Given the description of an element on the screen output the (x, y) to click on. 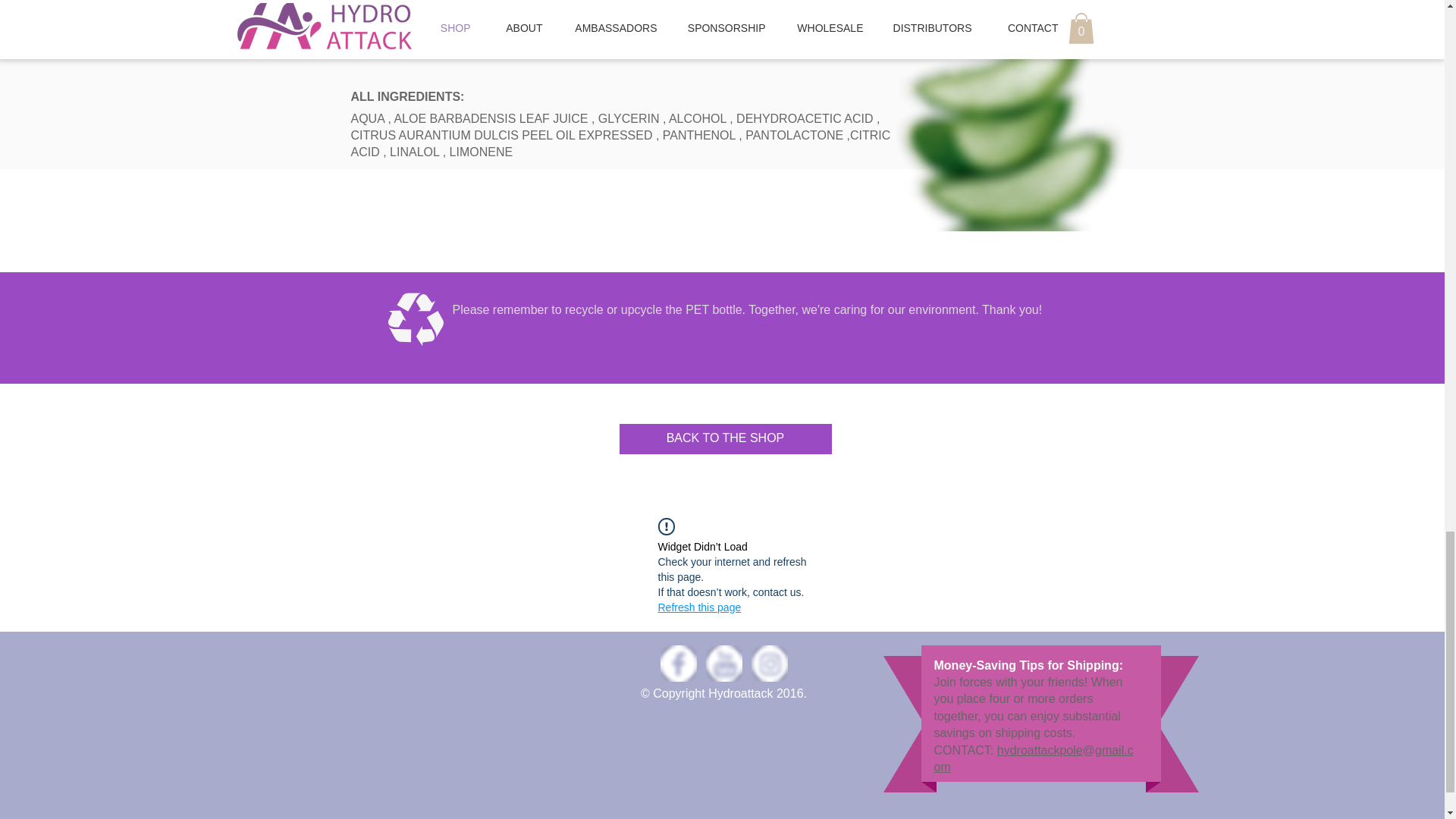
Refresh this page (699, 607)
BACK TO THE SHOP (724, 439)
hydroattackpole (1040, 749)
gmail.com (1034, 758)
